Given the description of an element on the screen output the (x, y) to click on. 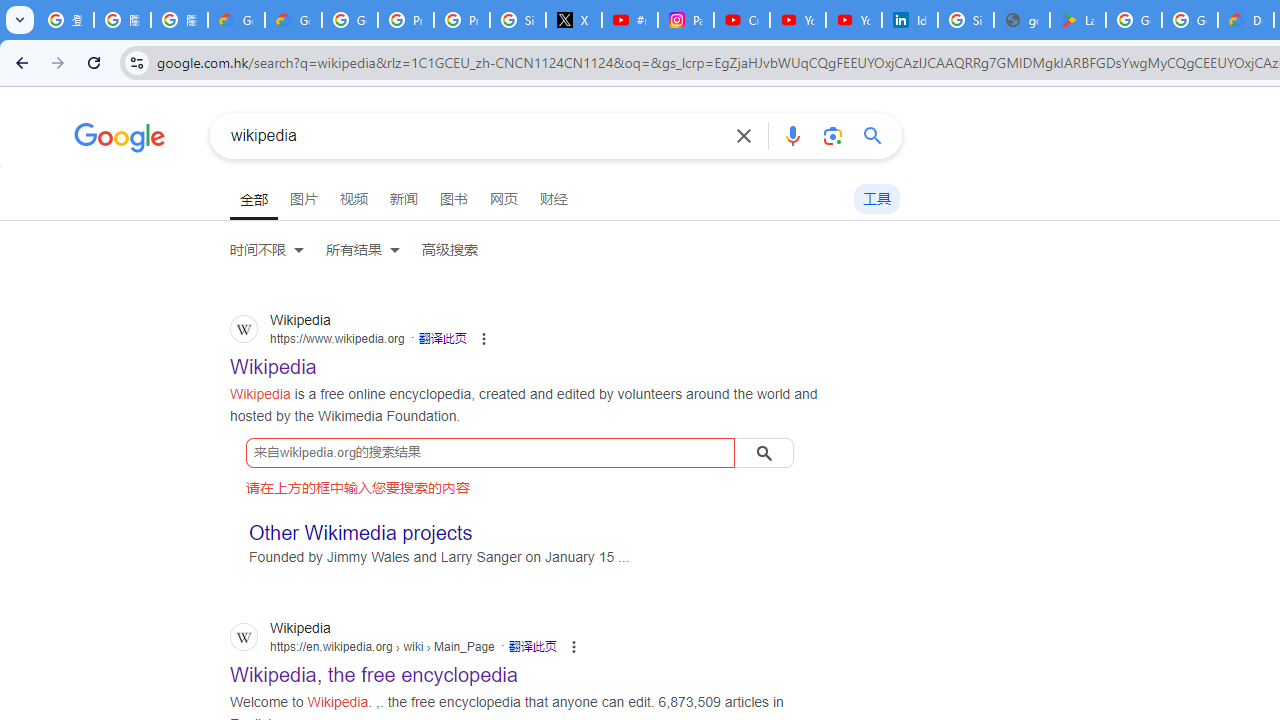
Sign in - Google Accounts (518, 20)
Google (120, 139)
Google Workspace - Specific Terms (1190, 20)
Google Cloud Privacy Notice (293, 20)
google_privacy_policy_en.pdf (1021, 20)
